Given the description of an element on the screen output the (x, y) to click on. 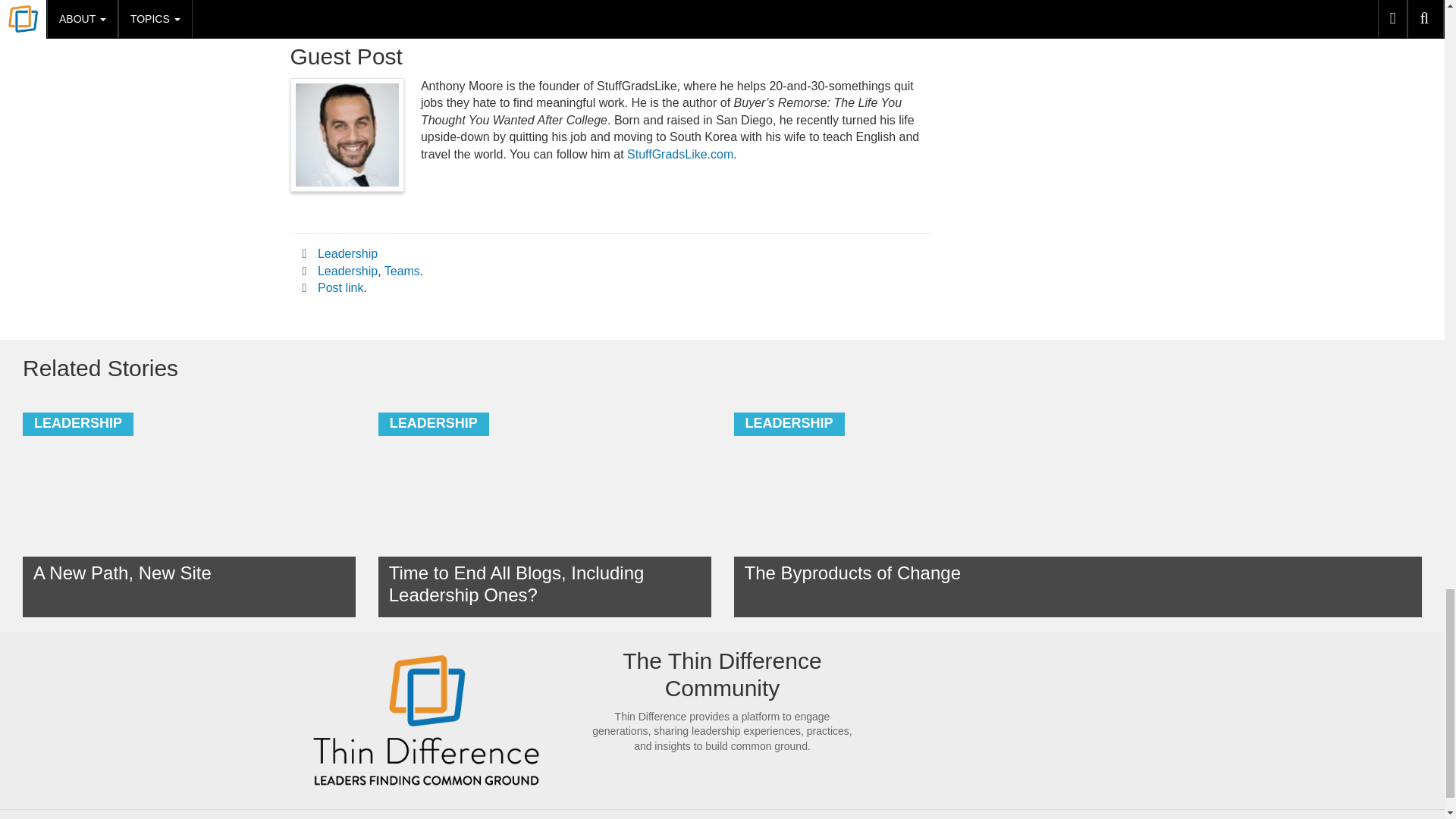
Leadership (347, 270)
Teams (402, 270)
Leadership (347, 253)
Post link (339, 287)
StuffGradsLike.com (680, 154)
